Given the description of an element on the screen output the (x, y) to click on. 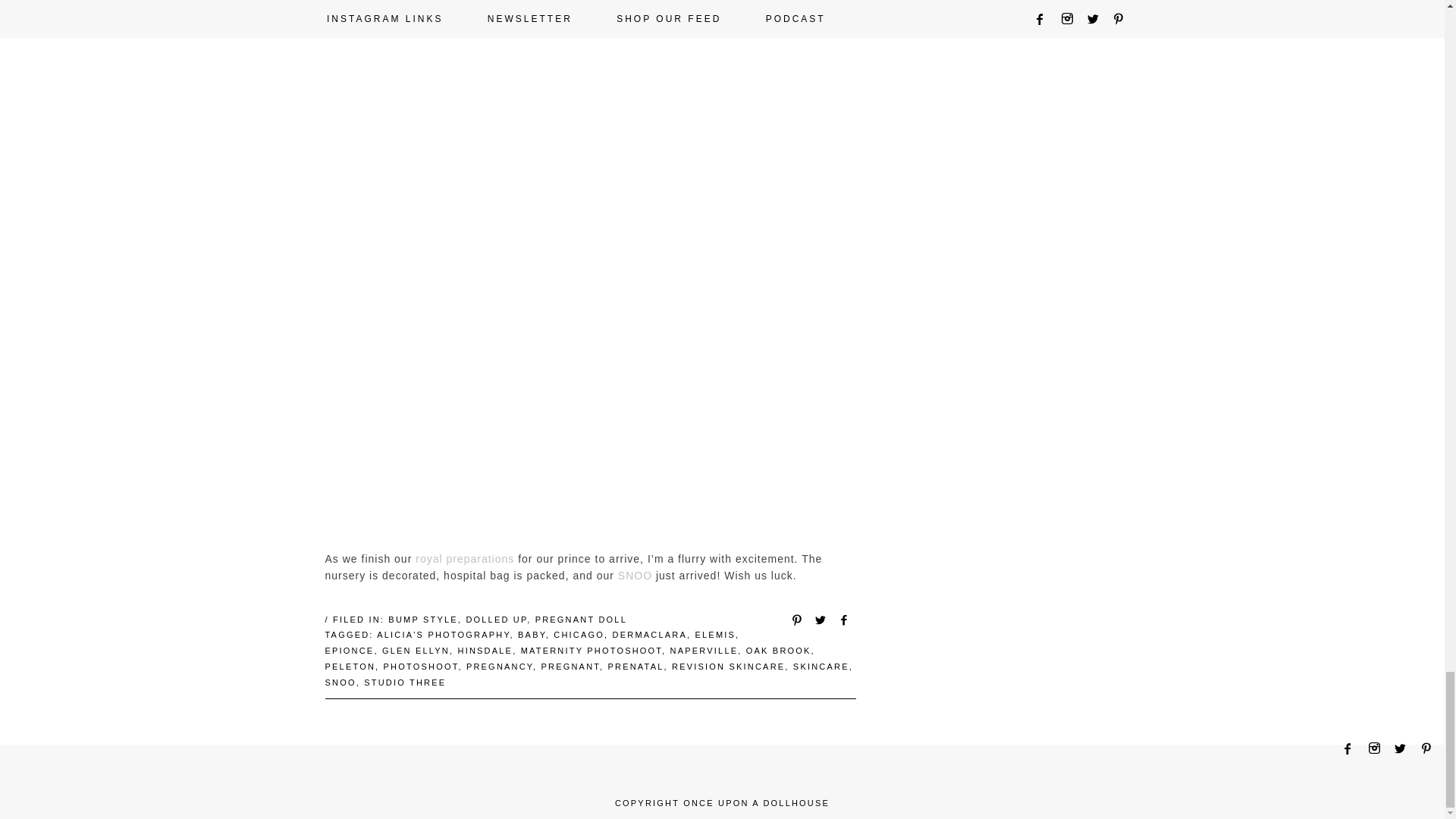
Instagram (1379, 748)
Twitter (1404, 748)
